Given the description of an element on the screen output the (x, y) to click on. 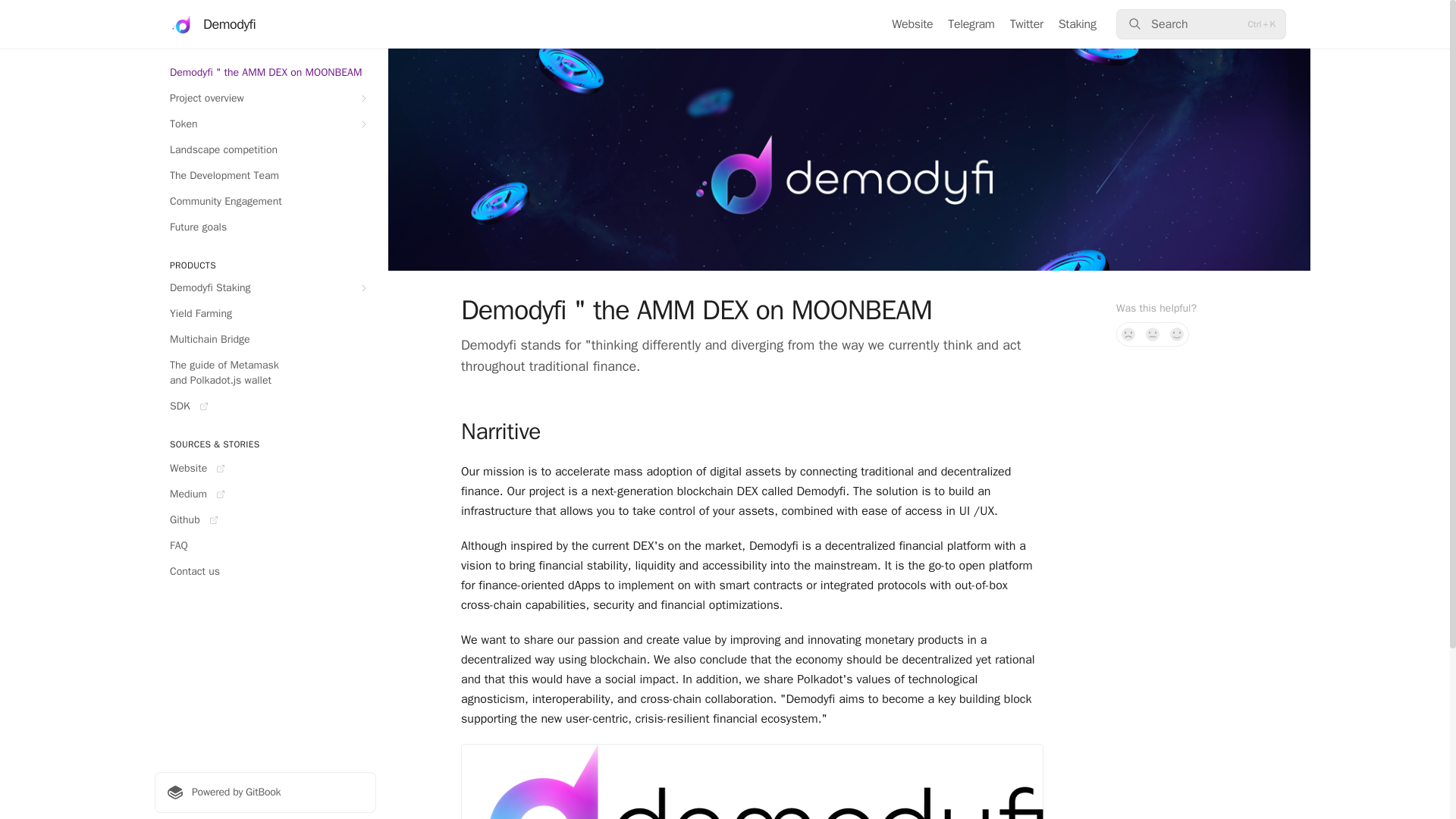
FAQ (264, 545)
Community Engagement (264, 201)
Website (264, 468)
Multichain Bridge (264, 339)
Staking (1077, 24)
Twitter (1026, 24)
Demodyfi " the AMM DEX on MOONBEAM (264, 72)
The Development Team (264, 175)
The guide of Metamask and Polkadot.js wallet (264, 372)
Medium (264, 494)
Not sure (1152, 334)
Demodyfi (213, 24)
Telegram (971, 24)
Demodyfi Staking (264, 288)
Yes, it was! (1176, 334)
